Given the description of an element on the screen output the (x, y) to click on. 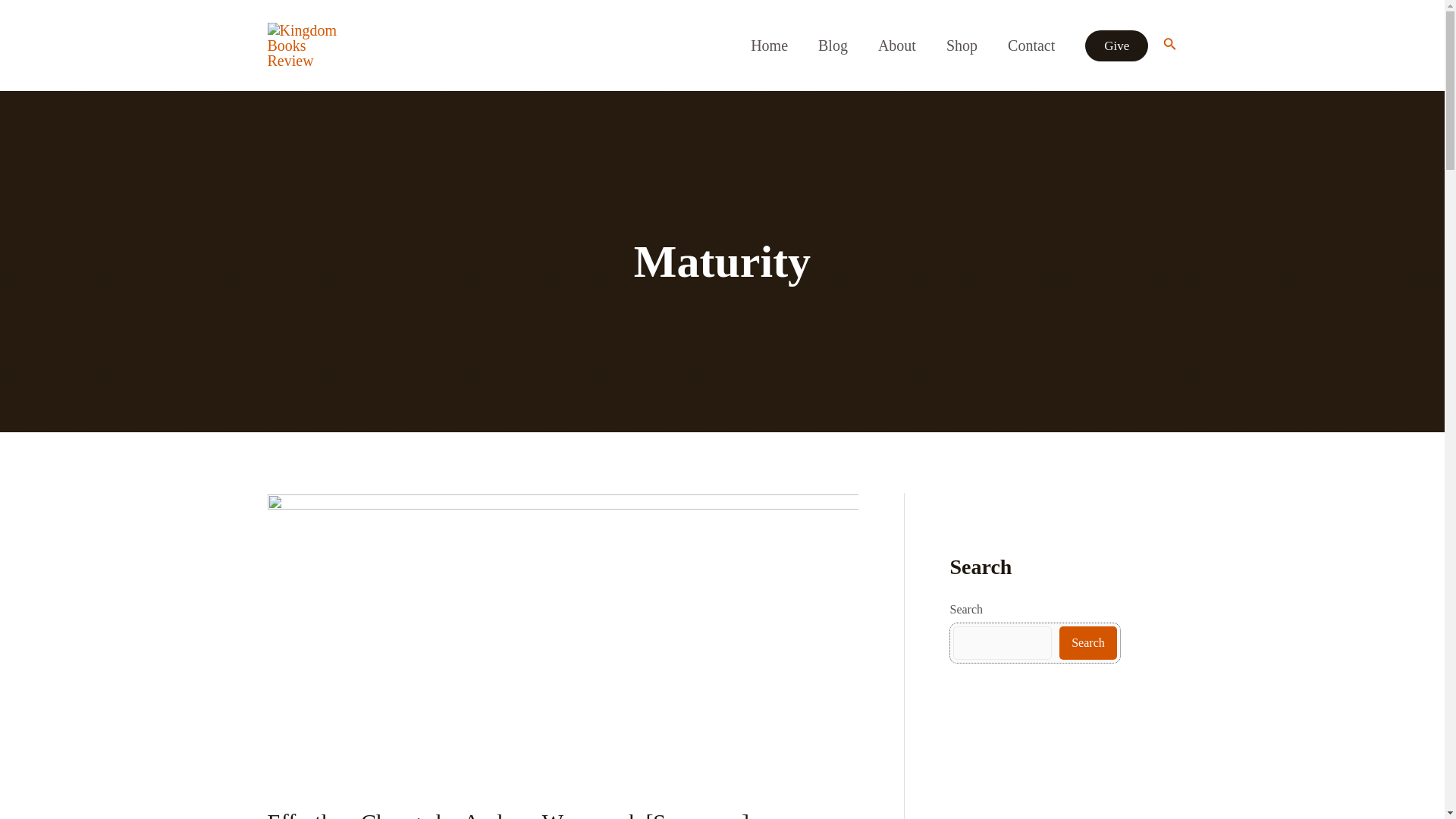
Shop (961, 45)
Search (1087, 643)
About (897, 45)
Give (1116, 45)
Home (769, 45)
Blog (833, 45)
Contact (1031, 45)
